Given the description of an element on the screen output the (x, y) to click on. 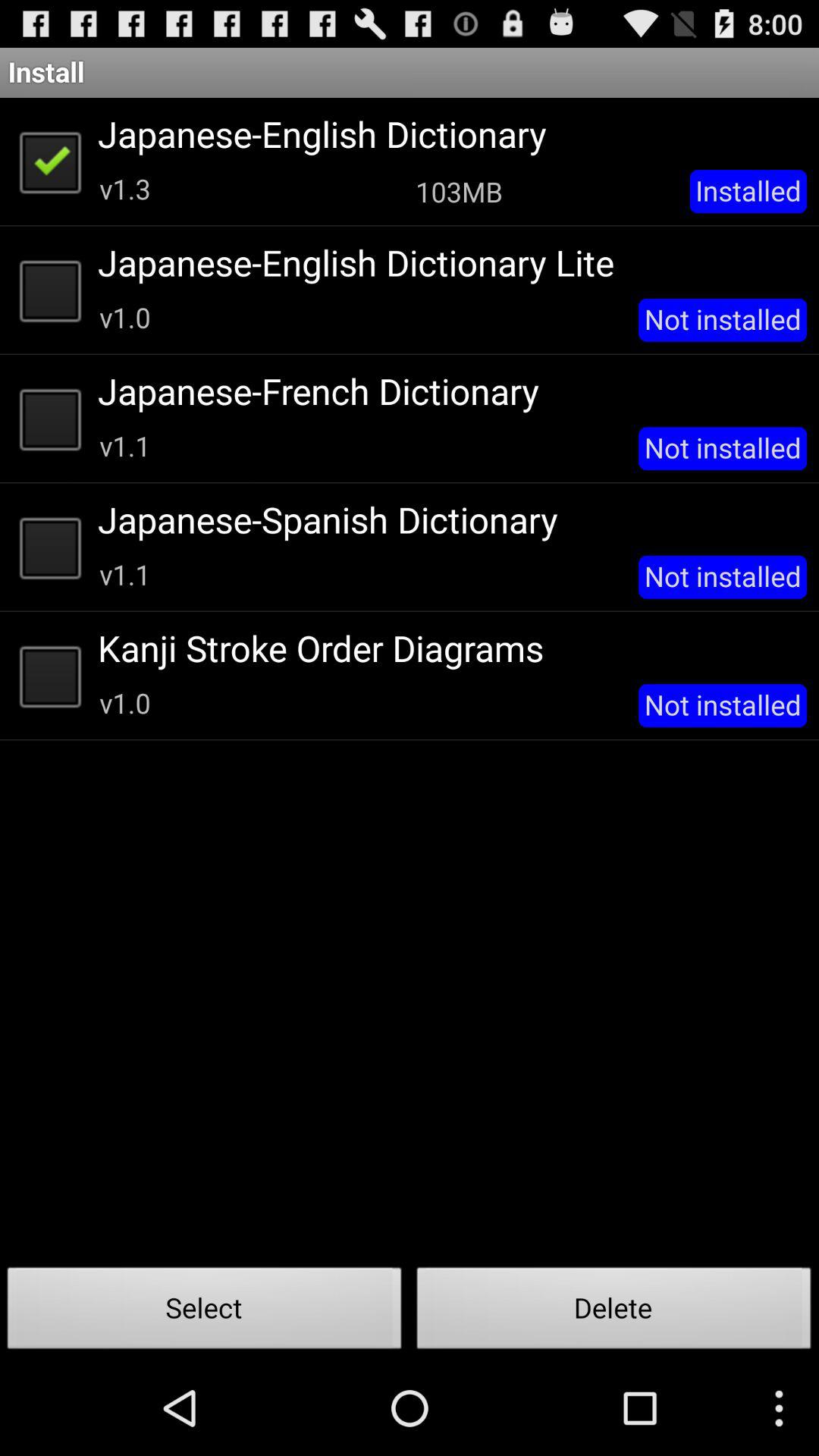
choose icon at the bottom right corner (614, 1312)
